Given the description of an element on the screen output the (x, y) to click on. 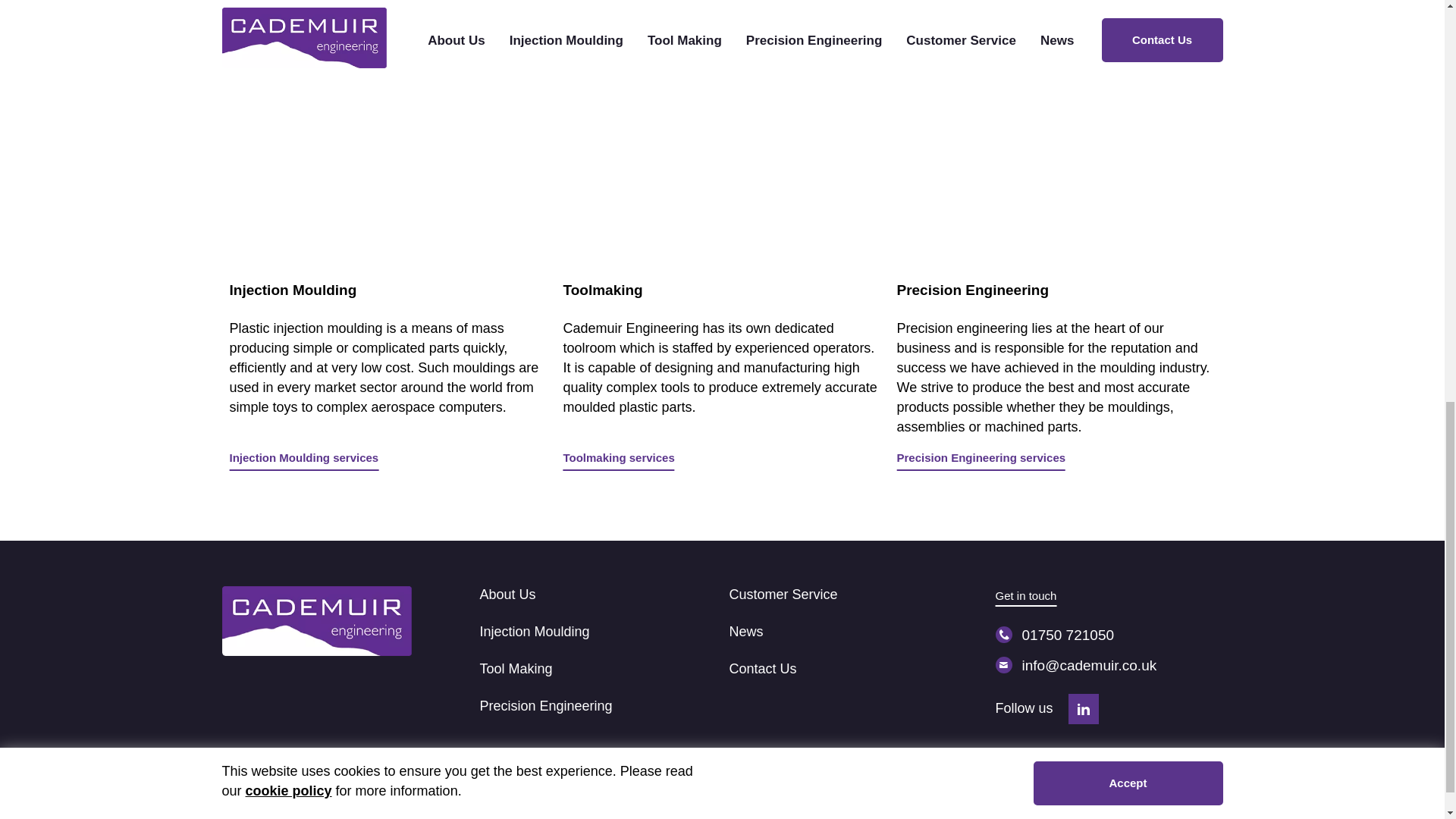
Customer Service (783, 594)
Precision Engineering (545, 705)
01750 721050 (1108, 634)
News (745, 631)
Get in touch (1025, 596)
Tool Making (515, 668)
Toolmaking services (618, 459)
Injection Moulding (534, 631)
Injection Moulding services (303, 459)
Precision Engineering services (980, 459)
